Given the description of an element on the screen output the (x, y) to click on. 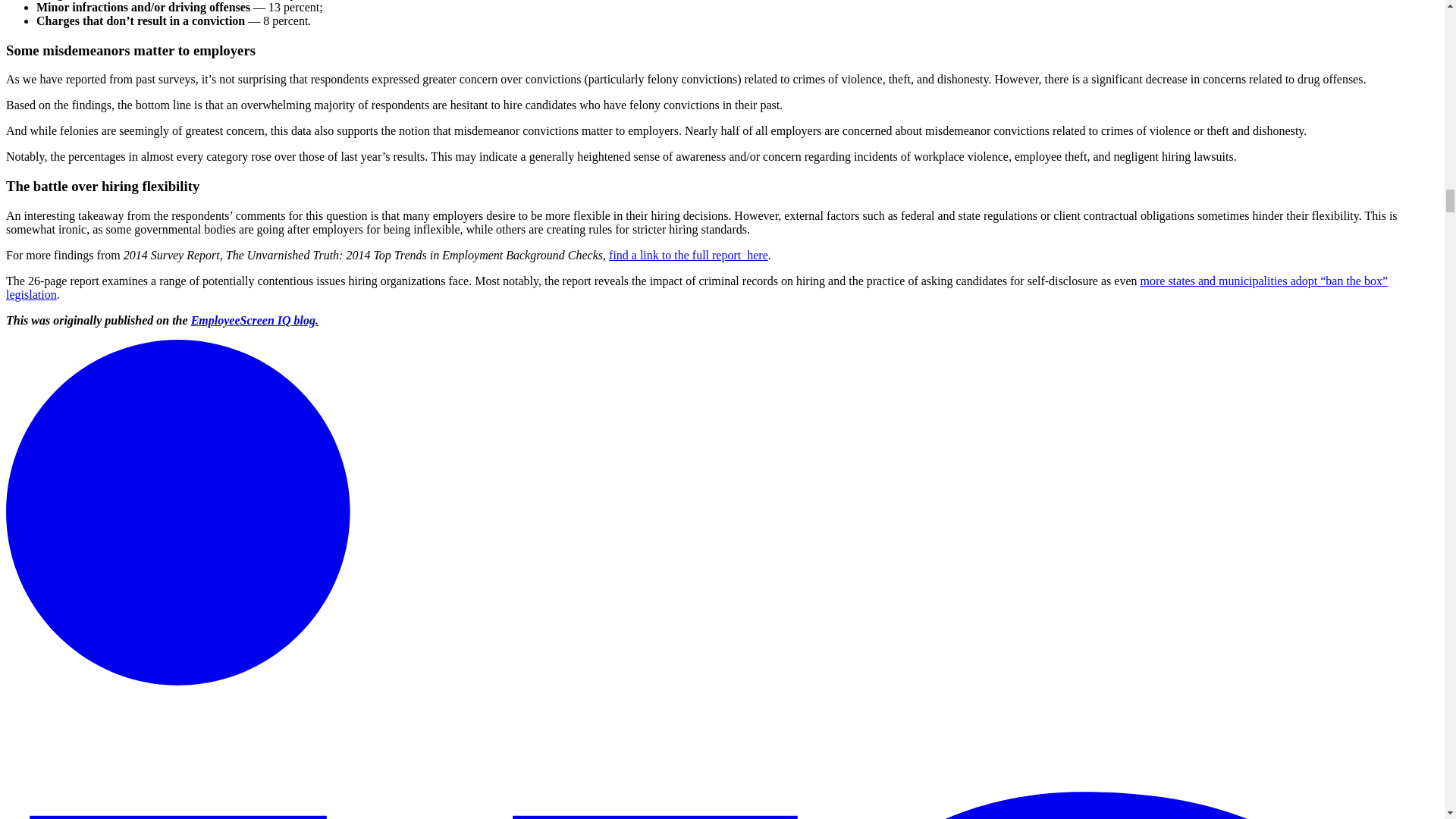
EmployeeScreen IQ blog. (254, 319)
find a link to the full report  here (688, 254)
